Given the description of an element on the screen output the (x, y) to click on. 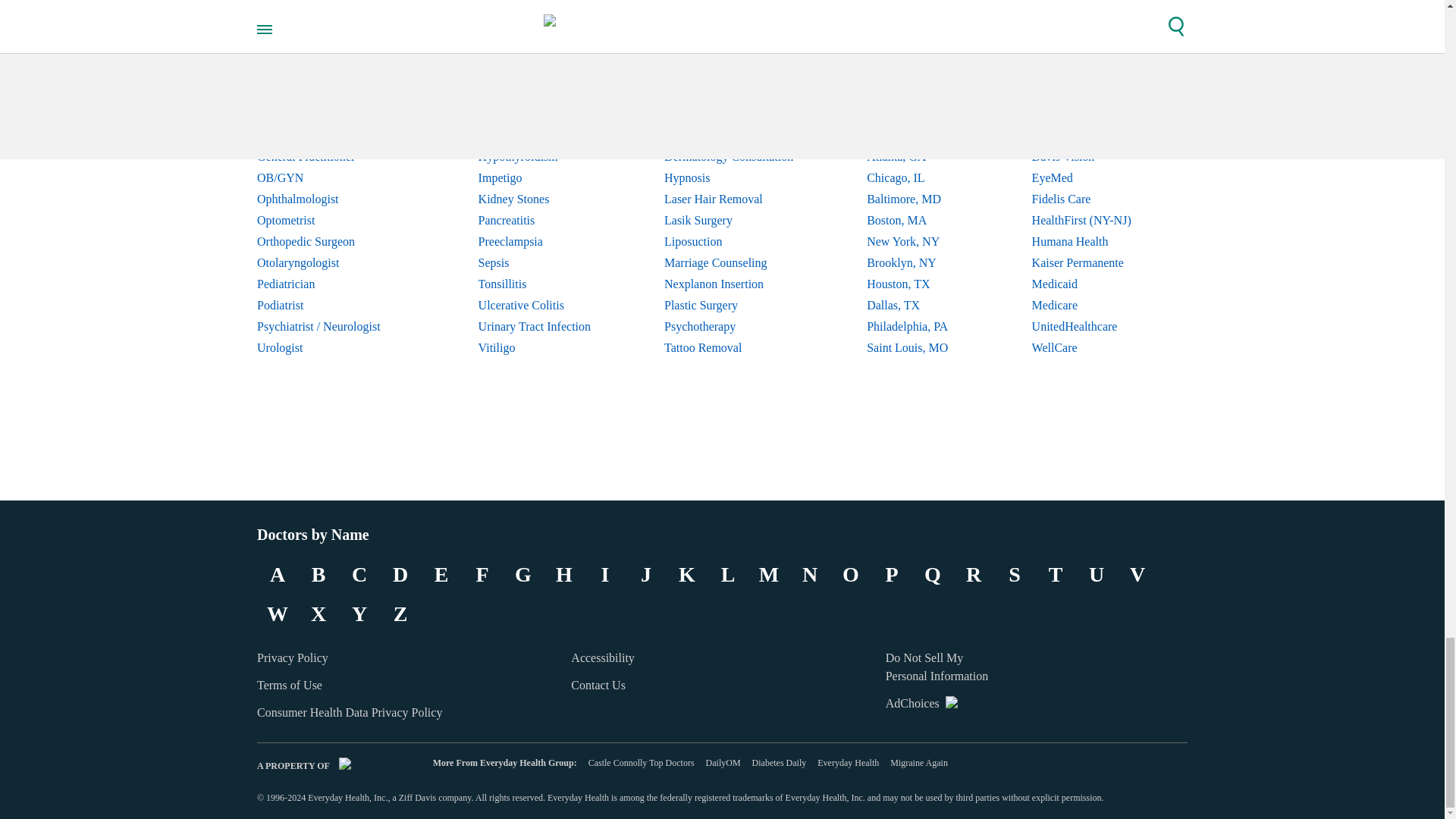
Optometrist (330, 219)
Ophthalmologist (330, 199)
Dermatologist (330, 93)
Endocrinologist (330, 114)
Cardiologist (330, 71)
General Practitioner (330, 156)
Gastroenterologist (330, 135)
Addiction Medicine Specialist (330, 50)
